Given the description of an element on the screen output the (x, y) to click on. 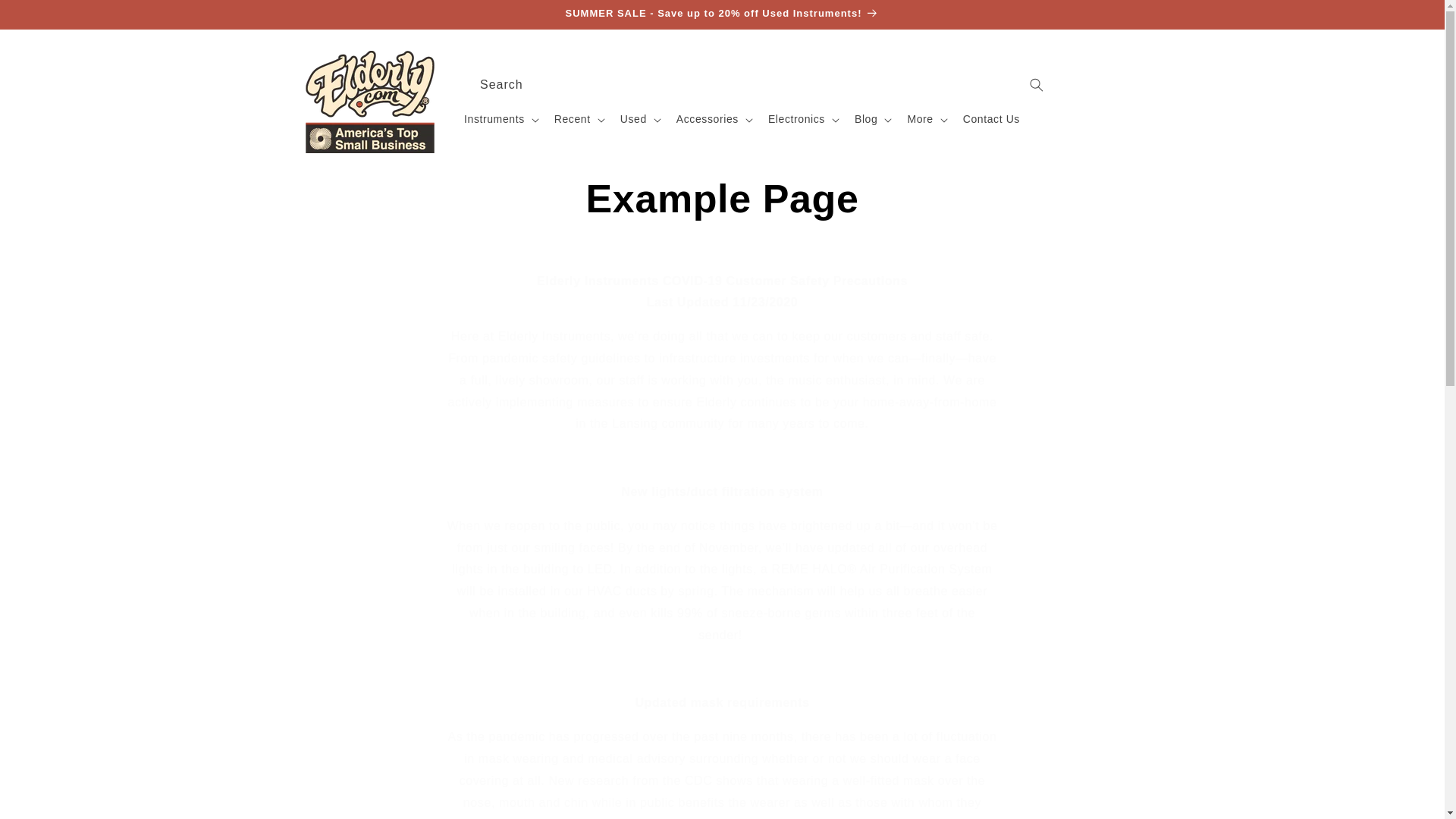
Skip to content (45, 17)
Example Page (721, 199)
